Given the description of an element on the screen output the (x, y) to click on. 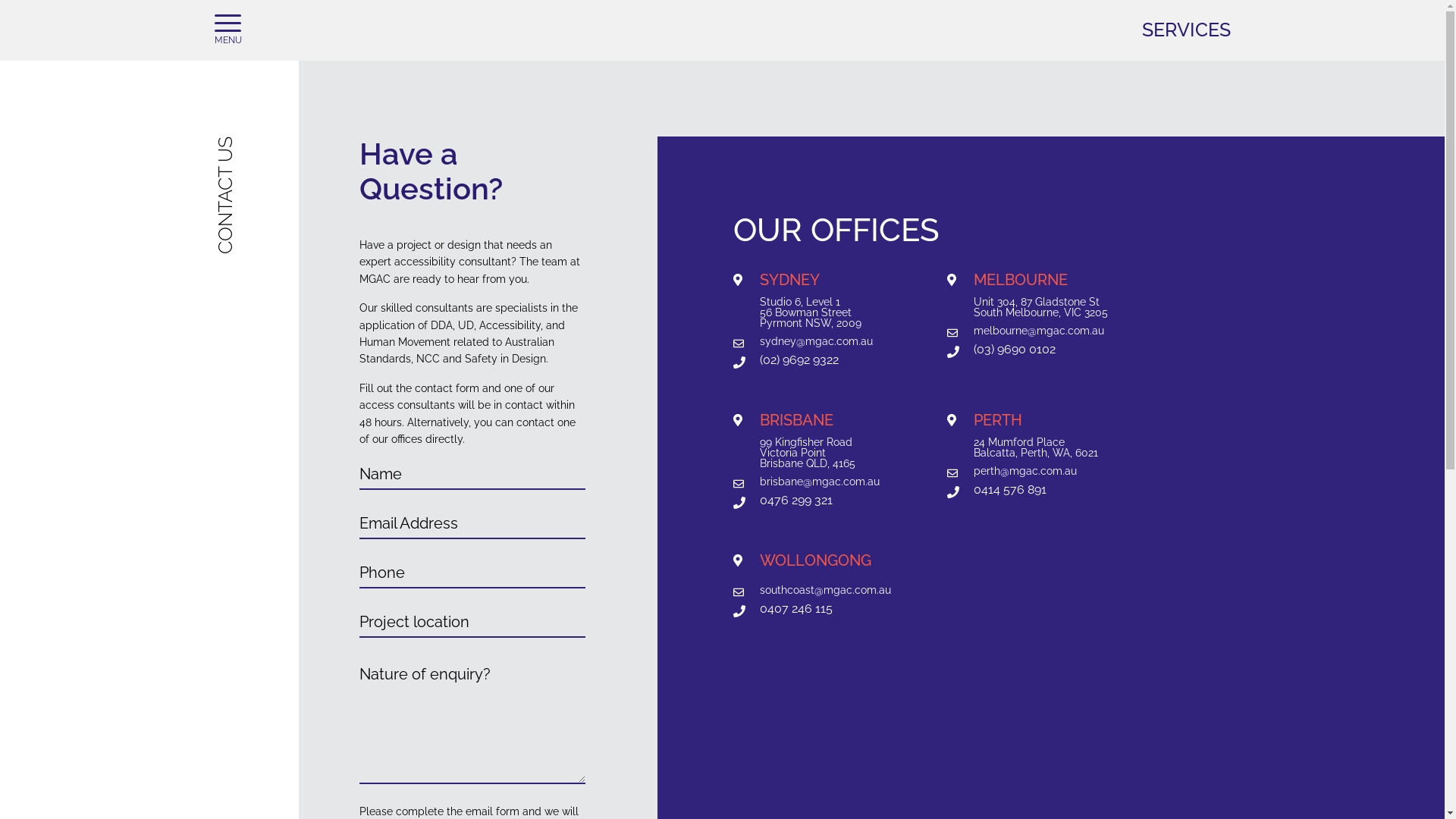
southcoast@mgac.com.au Element type: text (816, 589)
0407 246 115 Element type: text (816, 608)
melbourne@mgac.com.au Element type: text (1030, 330)
perth@mgac.com.au Element type: text (1030, 470)
(02) 9692 9322 Element type: text (816, 360)
SERVICES Element type: text (1186, 29)
0414 576 891 Element type: text (1030, 489)
MENU Element type: text (226, 29)
(03) 9690 0102 Element type: text (1030, 349)
0476 299 321 Element type: text (816, 500)
brisbane@mgac.com.au Element type: text (816, 481)
sydney@mgac.com.au Element type: text (816, 340)
